Given the description of an element on the screen output the (x, y) to click on. 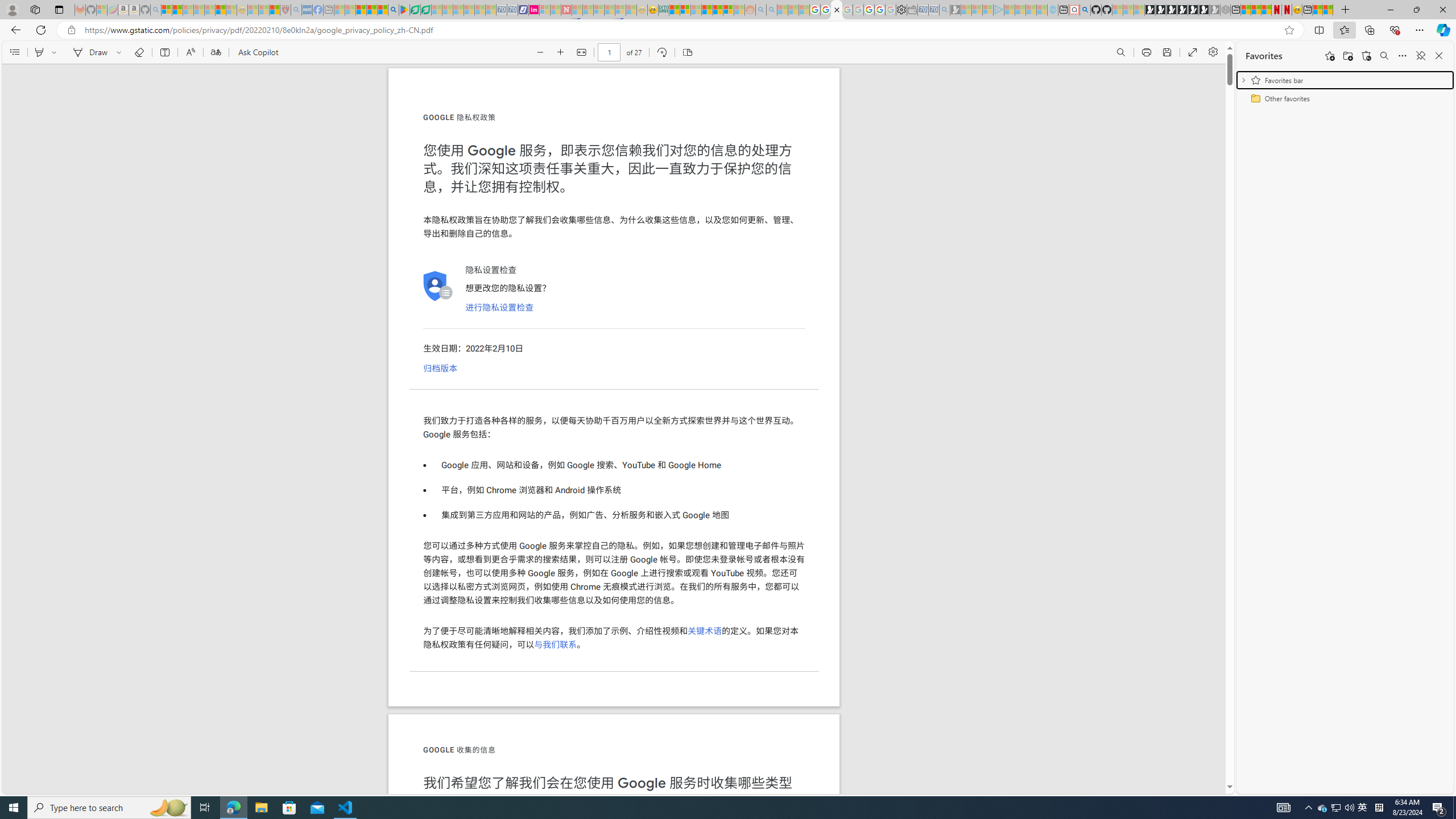
Contents (14, 52)
Print (Ctrl+P) (1146, 52)
